Given the description of an element on the screen output the (x, y) to click on. 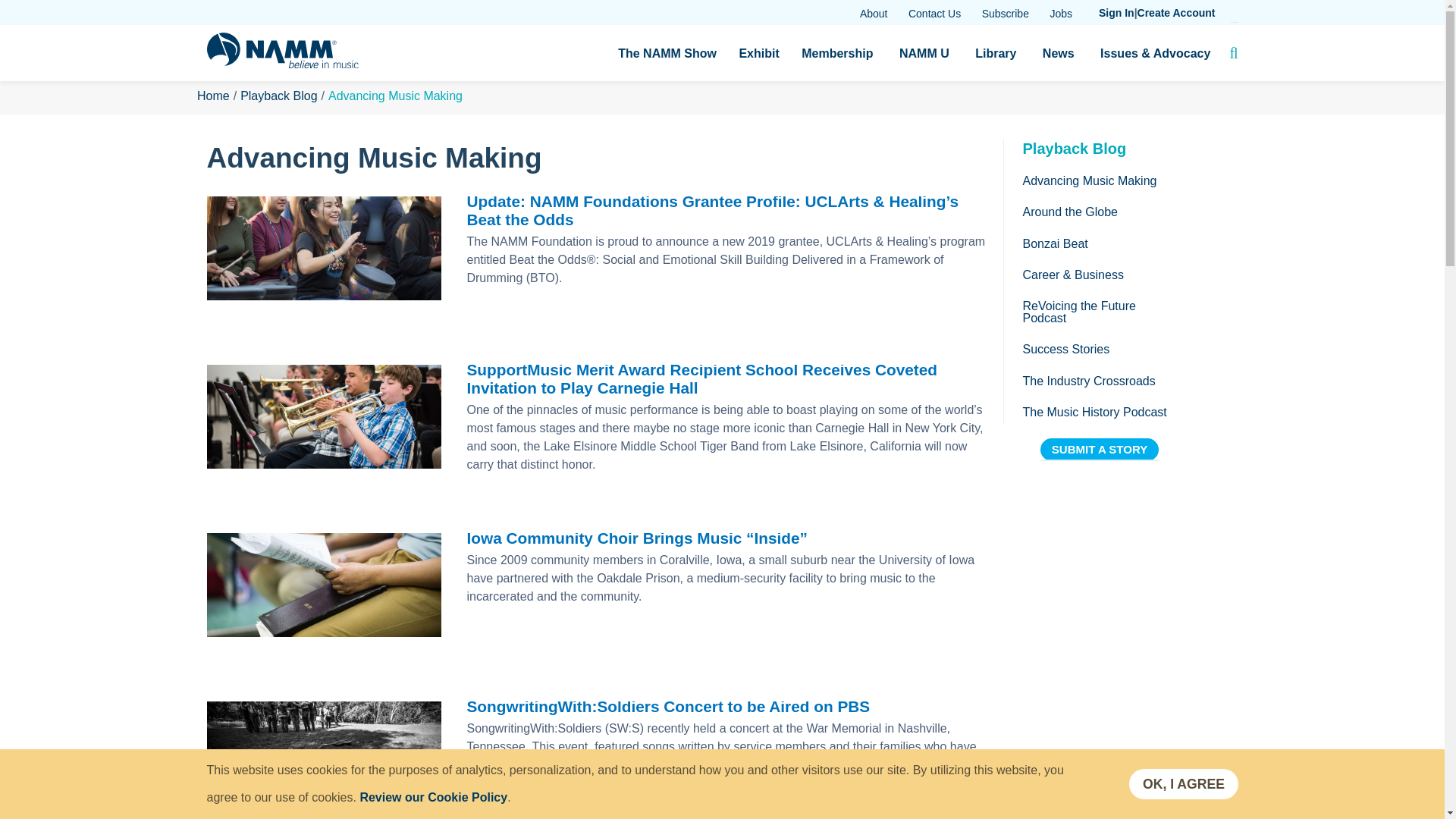
Exhibit (758, 52)
About NAMM (874, 13)
Create Account (1176, 13)
The NAMM Show (667, 53)
Subscribe (1005, 13)
NAMM U (924, 53)
Membership (836, 53)
NAMM - Believe In Music (282, 63)
Subscribe to NAMM Communications (1005, 13)
Sign In (1116, 13)
Create NAMM.org Web Account (1176, 13)
Send an Email to NAMM (934, 13)
Sign In to NAMM.org (1116, 13)
The 2023 NAMM Show (667, 53)
Industry Job Board (1060, 13)
